Given the description of an element on the screen output the (x, y) to click on. 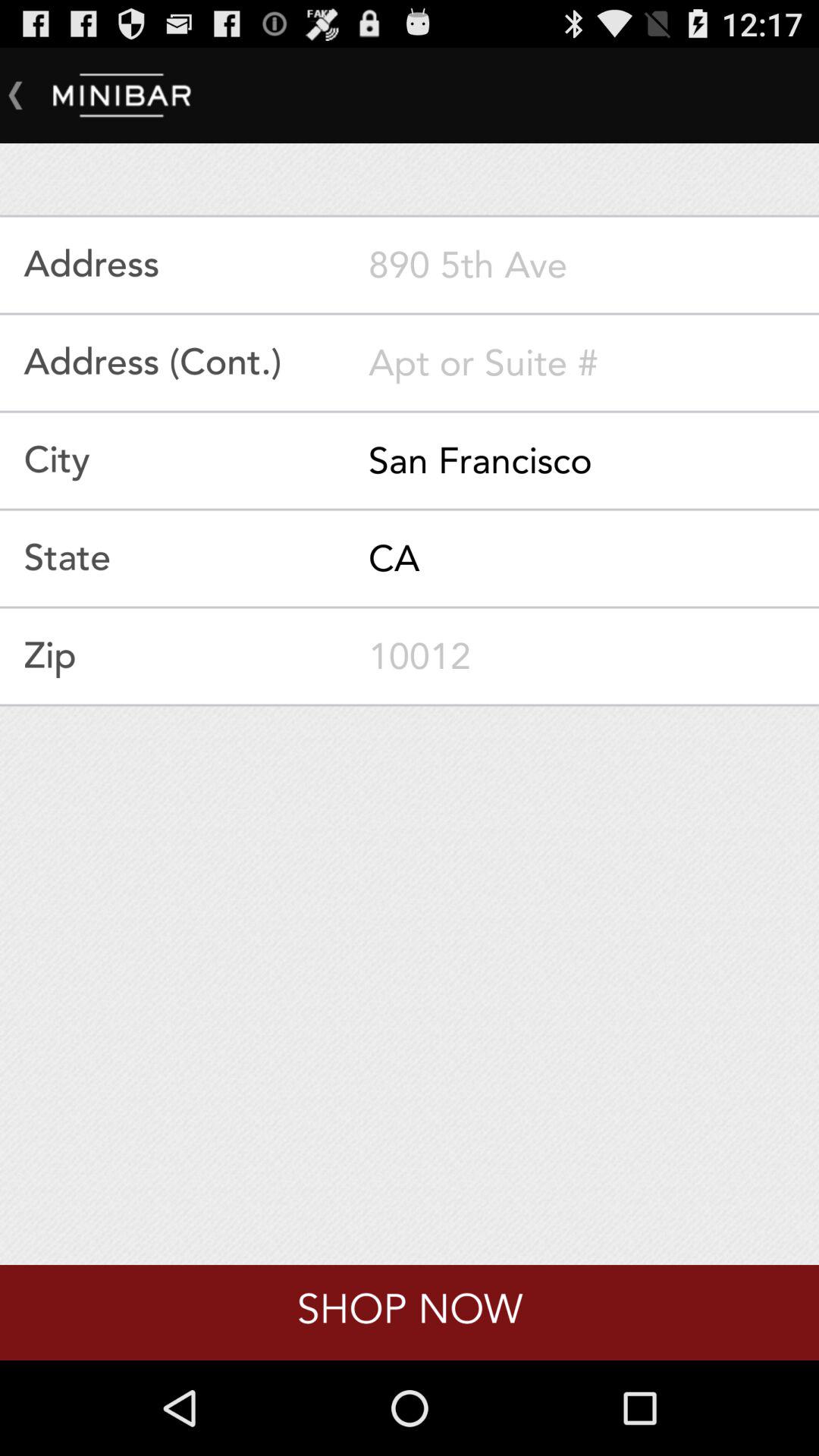
toggle address text box (593, 264)
